Given the description of an element on the screen output the (x, y) to click on. 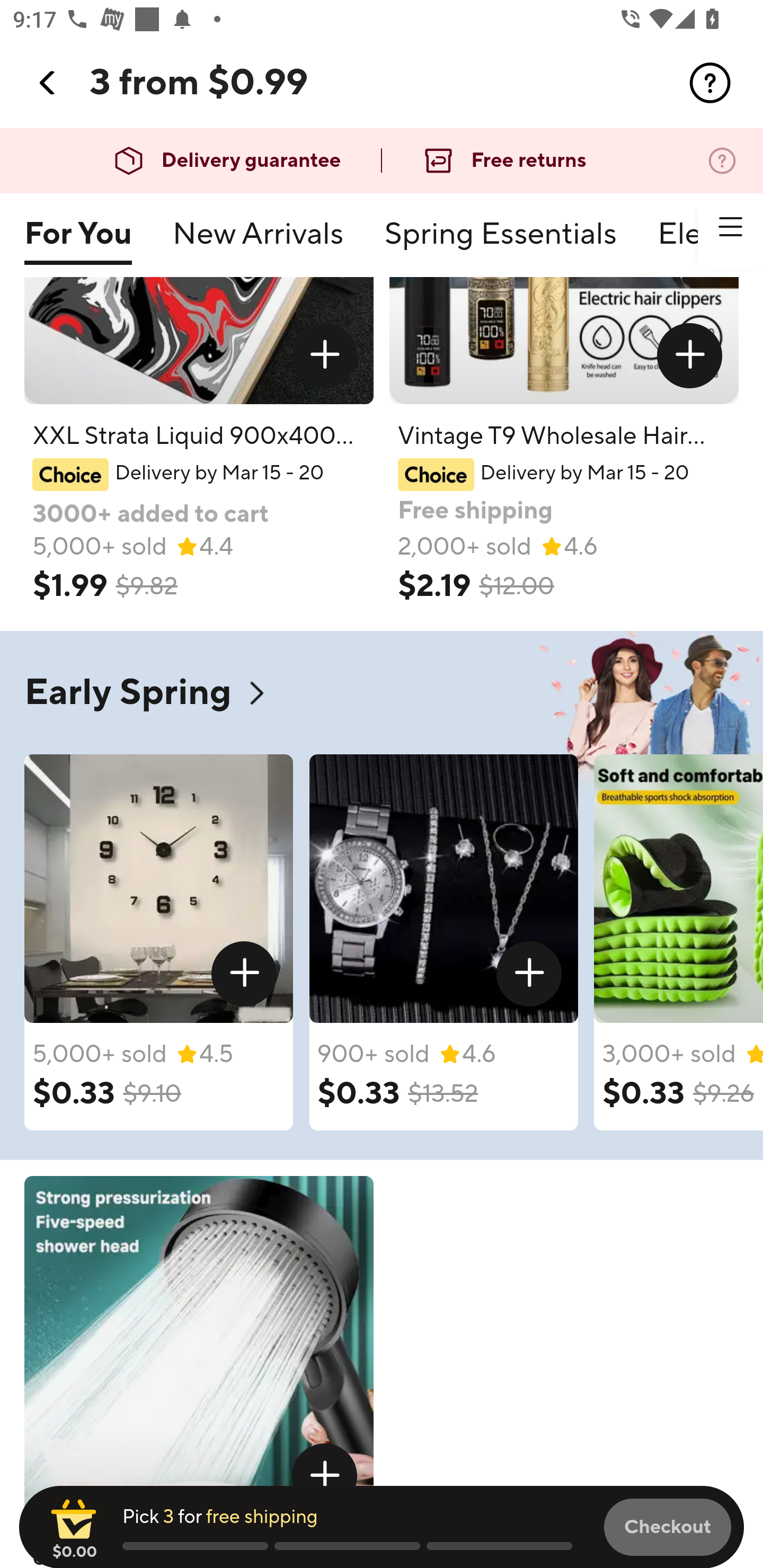
 (710, 82)
 (48, 82)
 (730, 226)
For You (77, 242)
New Arrivals (257, 242)
Spring Essentials (500, 242)
 (323, 355)
 (689, 355)
Early Spring Early Spring 48x48.png_50x50.png_ (381, 692)
 (244, 974)
 (529, 974)
